Given the description of an element on the screen output the (x, y) to click on. 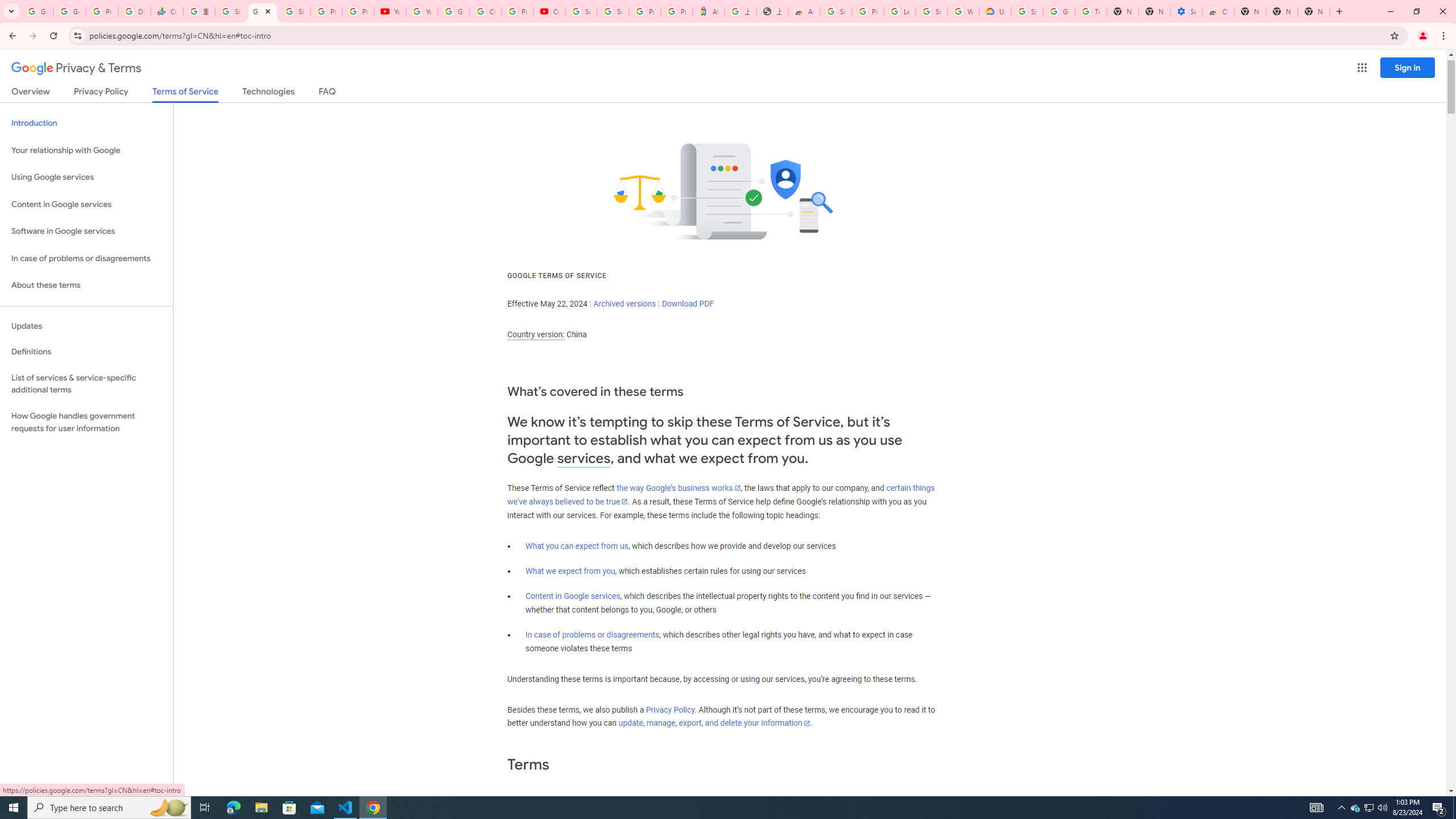
Your relationship with Google (86, 150)
Sign in - Google Accounts (836, 11)
YouTube (421, 11)
Using Google services (86, 176)
